Given the description of an element on the screen output the (x, y) to click on. 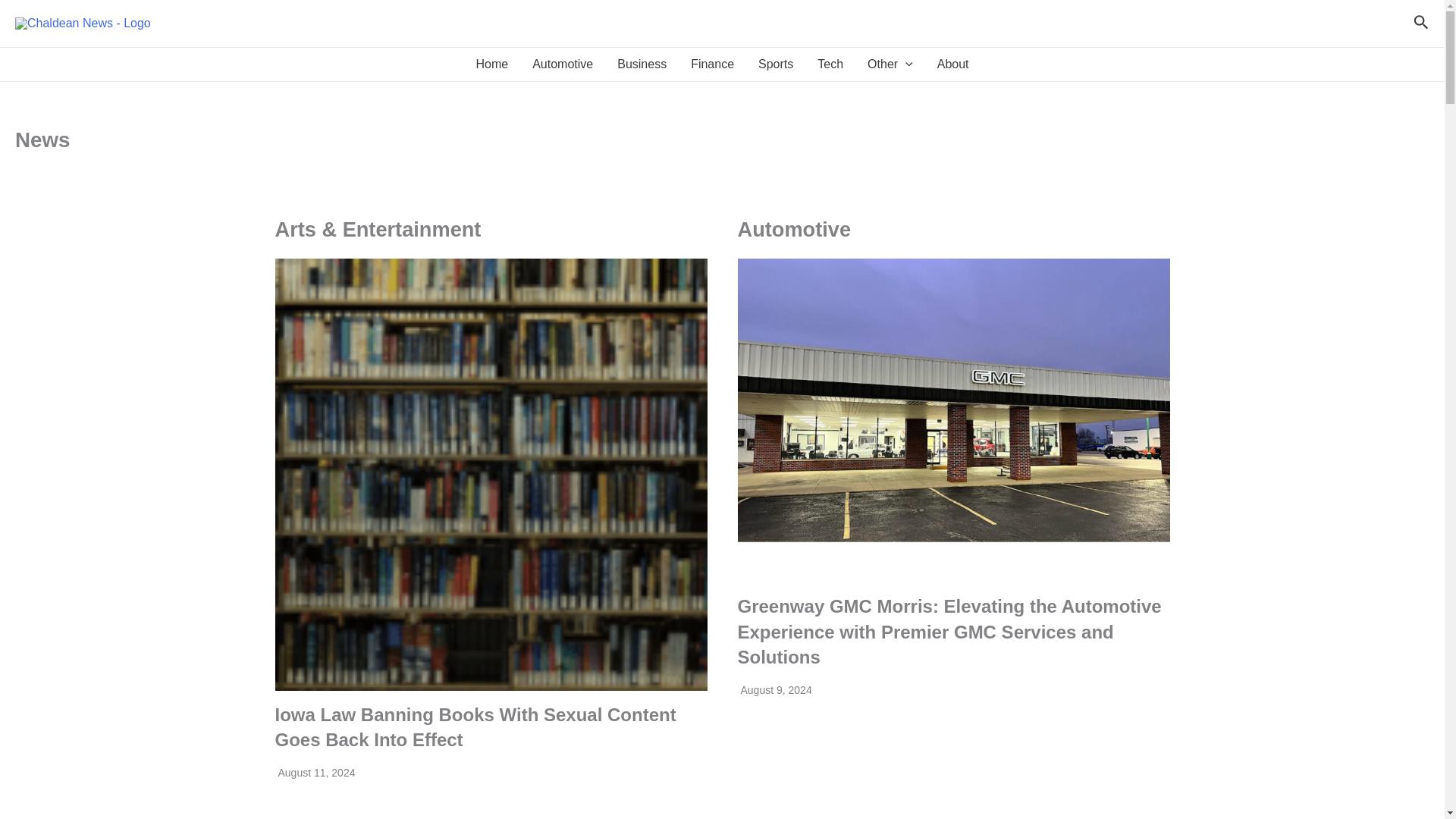
Home (491, 64)
About (952, 64)
Other (890, 64)
Business (641, 64)
Sports (775, 64)
Automotive (562, 64)
Tech (830, 64)
Finance (711, 64)
